Given the description of an element on the screen output the (x, y) to click on. 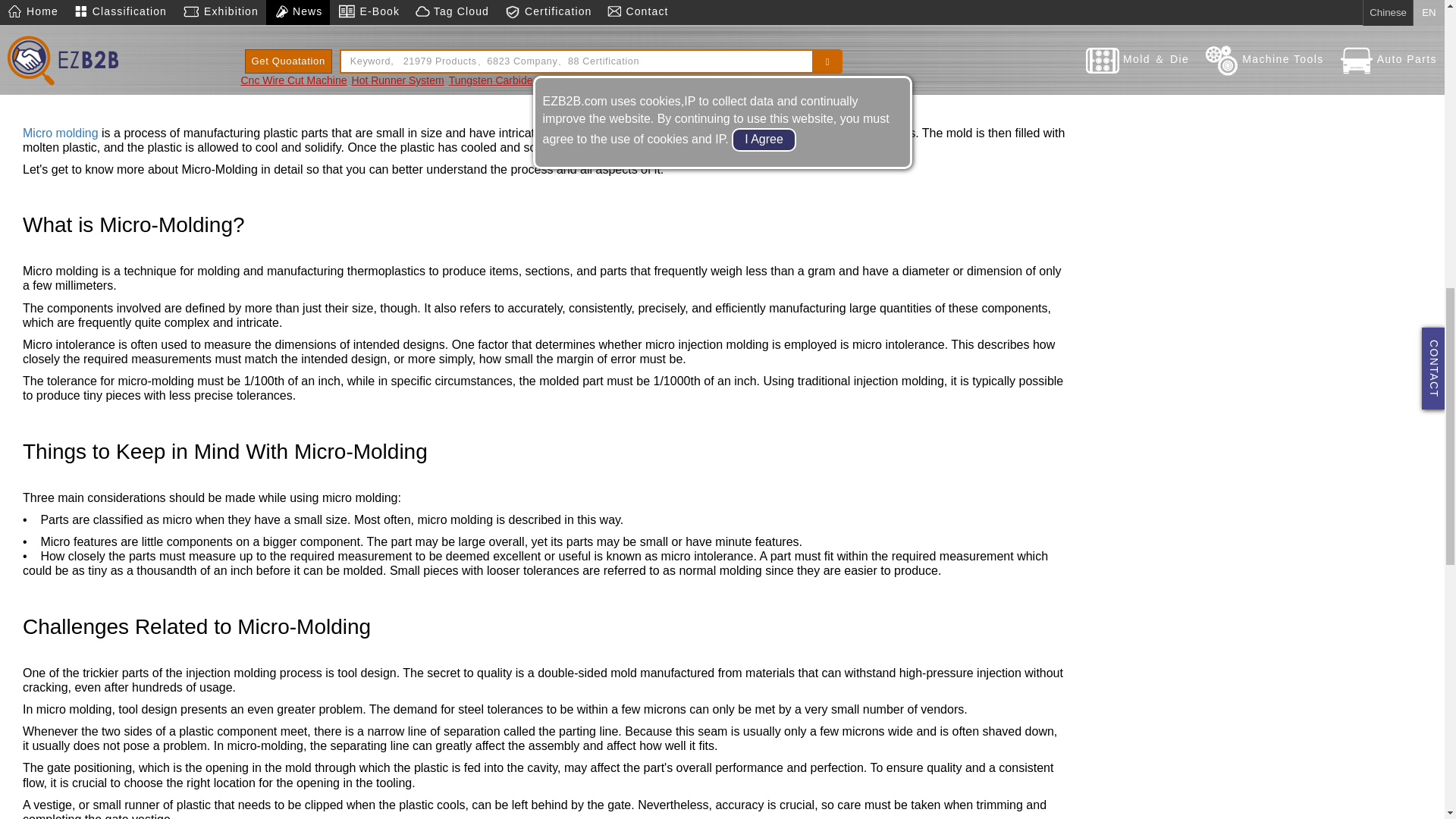
Micro molding (61, 132)
